Given the description of an element on the screen output the (x, y) to click on. 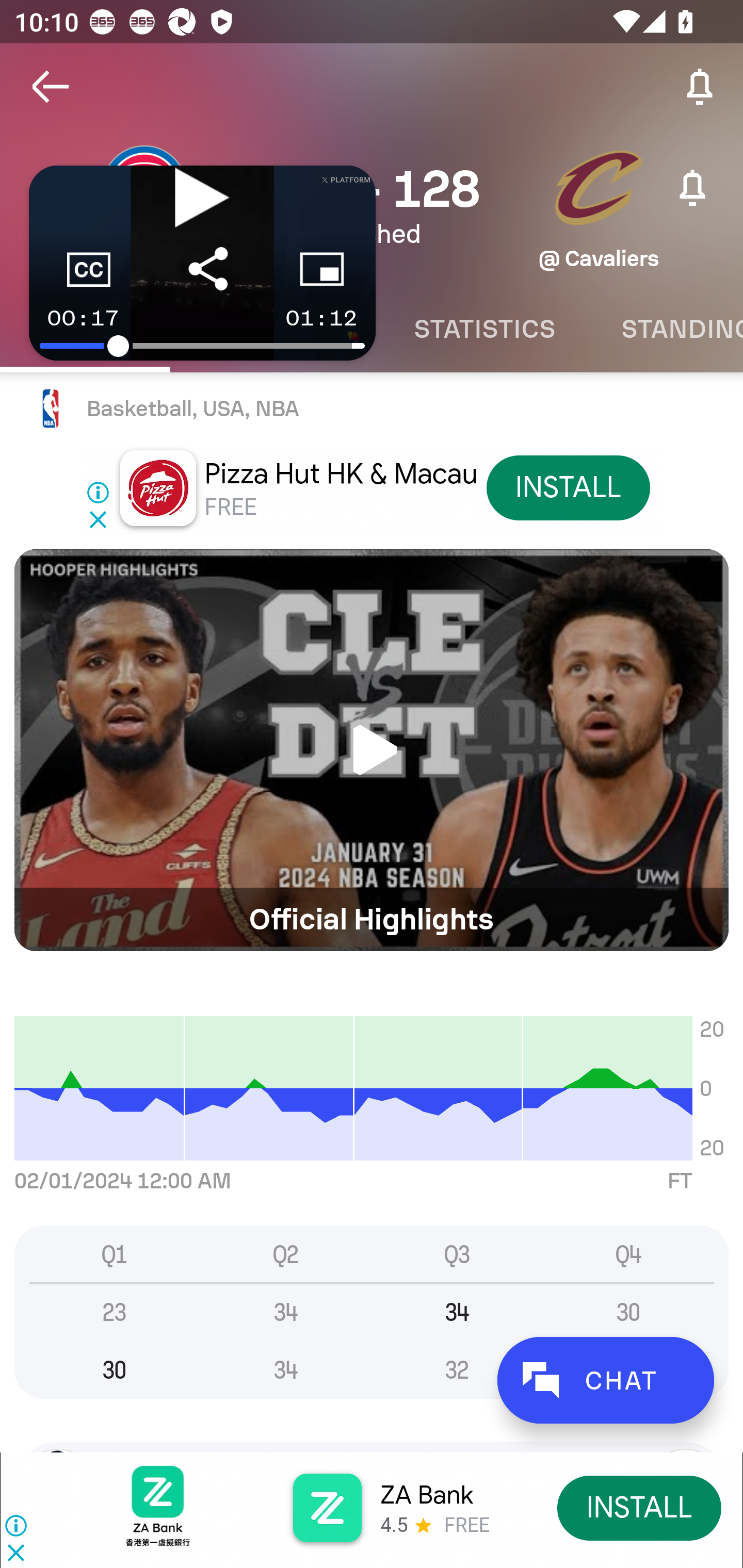
Navigate up (50, 86)
Statistics STATISTICS (484, 329)
Standings STANDINGS (665, 329)
Basketball, USA, NBA (371, 409)
Pizza Hut HK & Macau (340, 473)
INSTALL (567, 487)
FREE (230, 507)
CHAT (605, 1380)
INSTALL (639, 1507)
ZA Bank (426, 1494)
